Given the description of an element on the screen output the (x, y) to click on. 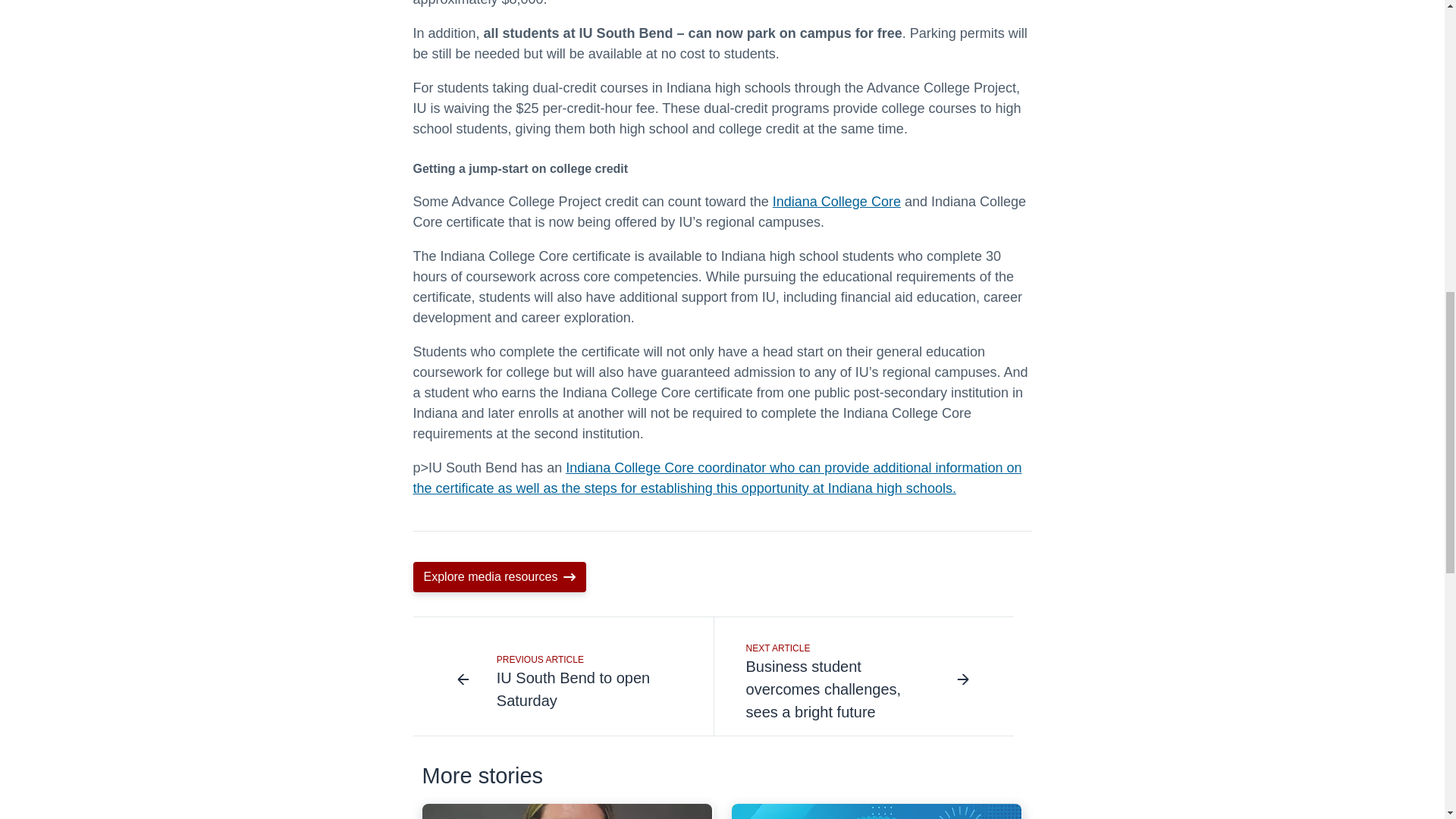
Indiana College Core (562, 676)
Explore media resources (837, 201)
